Given the description of an element on the screen output the (x, y) to click on. 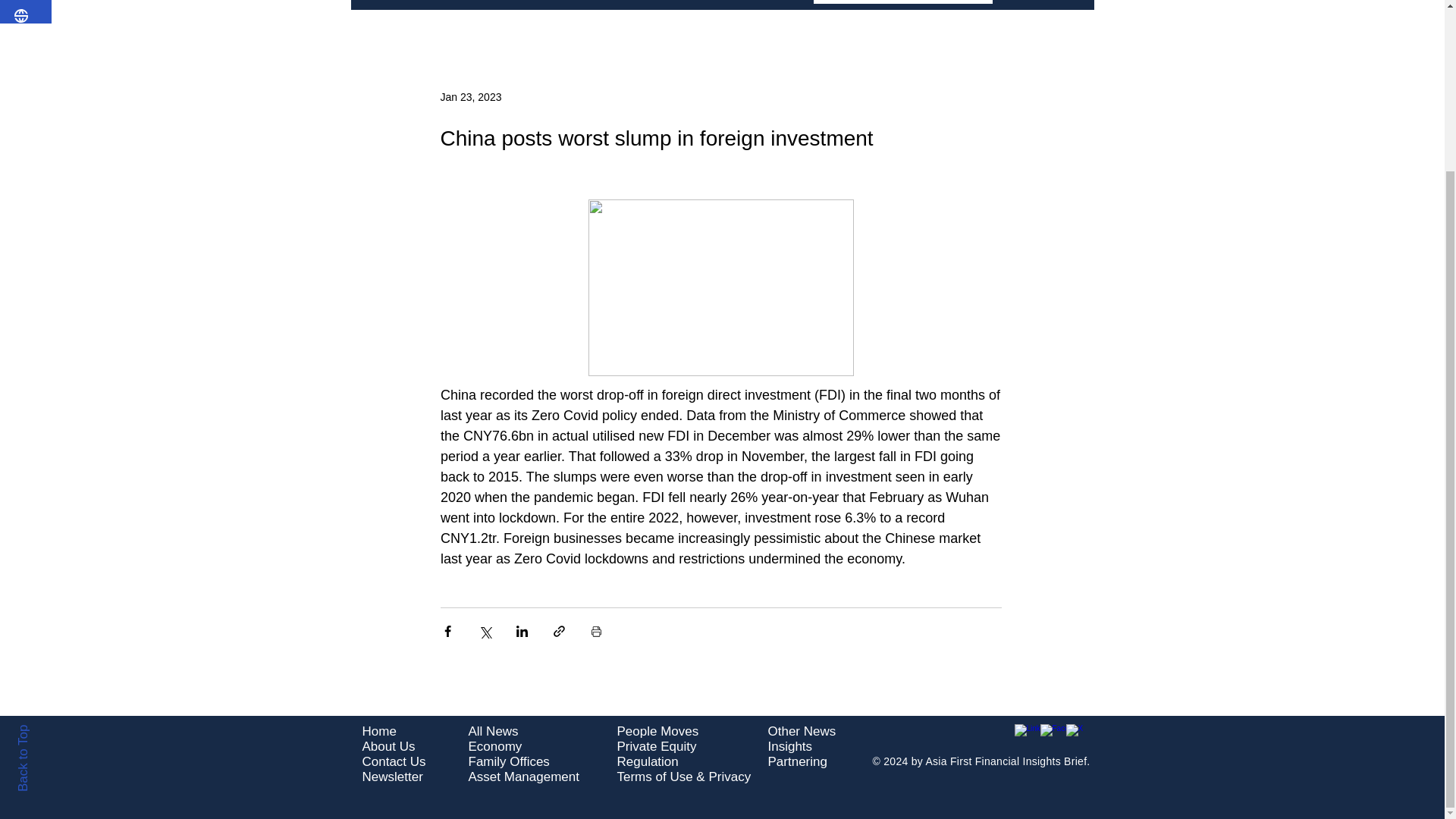
Jan 23, 2023 (469, 96)
Home (379, 730)
Regulation (647, 761)
Family Offices (509, 761)
Newsletter (392, 776)
Asset Management (523, 776)
All News (493, 730)
Contact Us (394, 761)
Other News (801, 730)
About Us (388, 746)
